Given the description of an element on the screen output the (x, y) to click on. 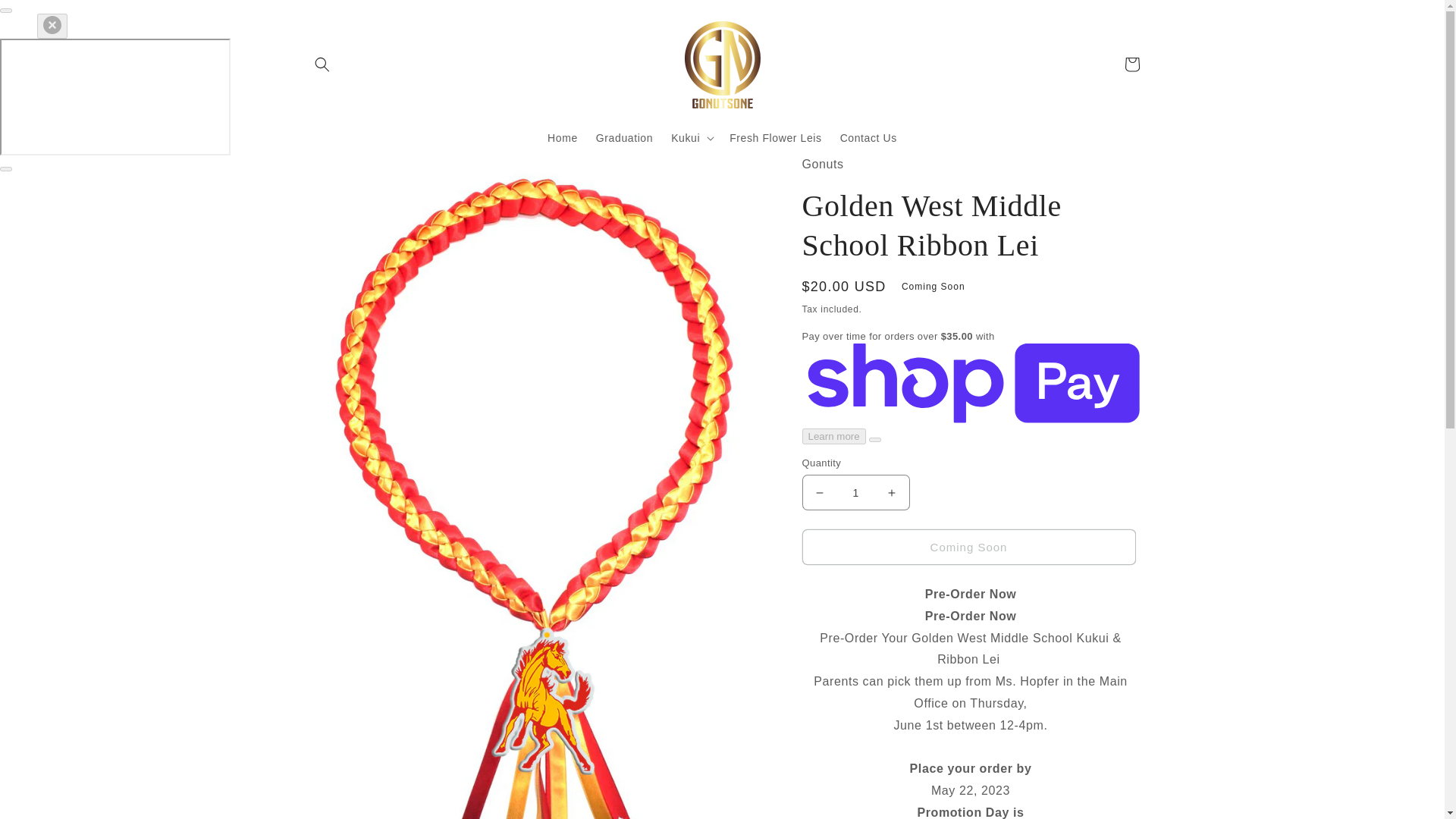
Graduation (624, 137)
Cart (1131, 64)
Coming Soon (968, 547)
Decrease quantity for Golden West Middle School Ribbon Lei (818, 492)
Home (562, 137)
Skip to product information (350, 171)
Contact Us (868, 137)
1 (856, 492)
Increase quantity for Golden West Middle School Ribbon Lei (891, 492)
Fresh Flower Leis (774, 137)
Skip to content (45, 17)
